Given the description of an element on the screen output the (x, y) to click on. 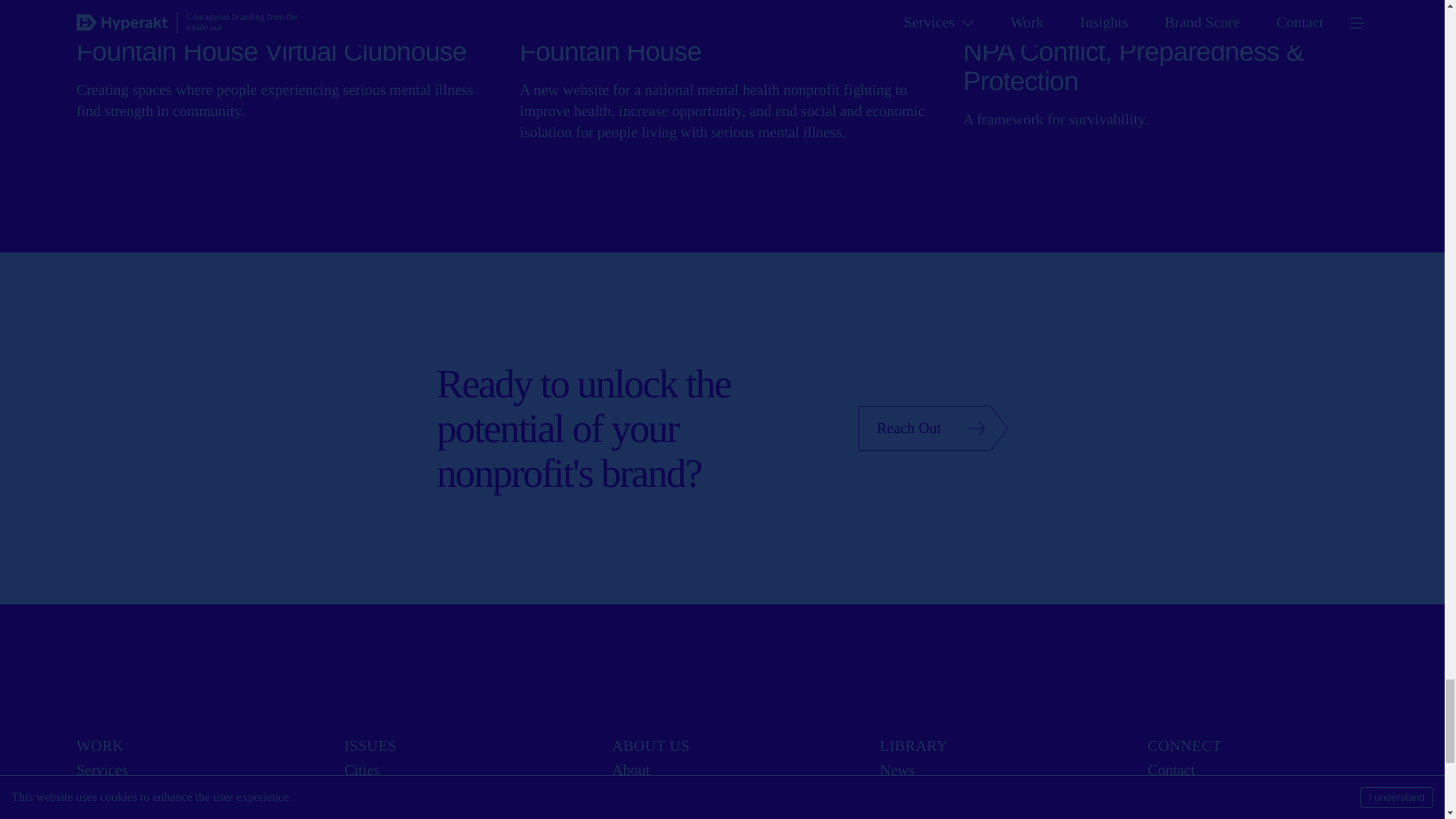
Reach Out (933, 428)
